Given the description of an element on the screen output the (x, y) to click on. 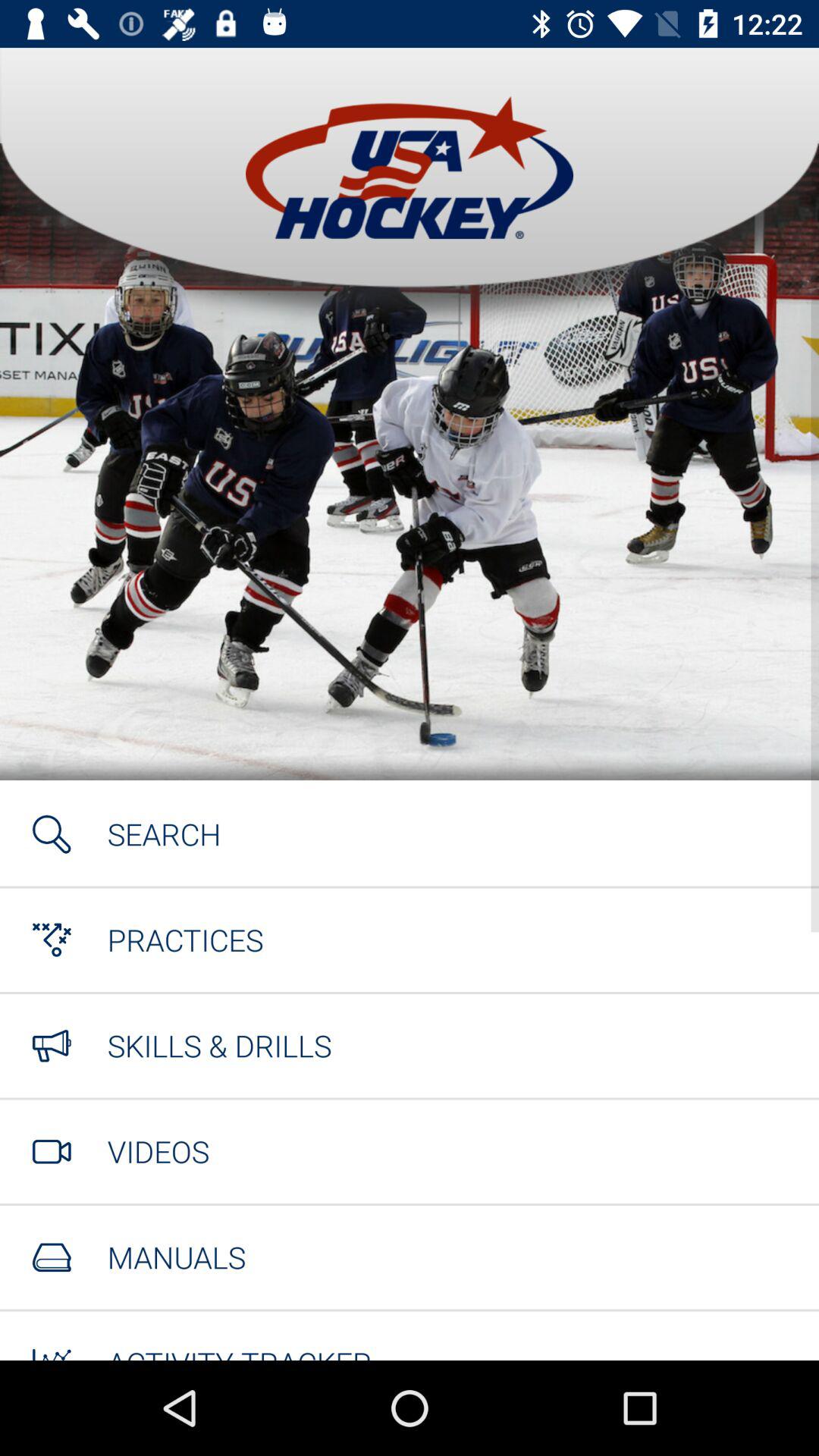
scroll until the activity tracker (239, 1351)
